Given the description of an element on the screen output the (x, y) to click on. 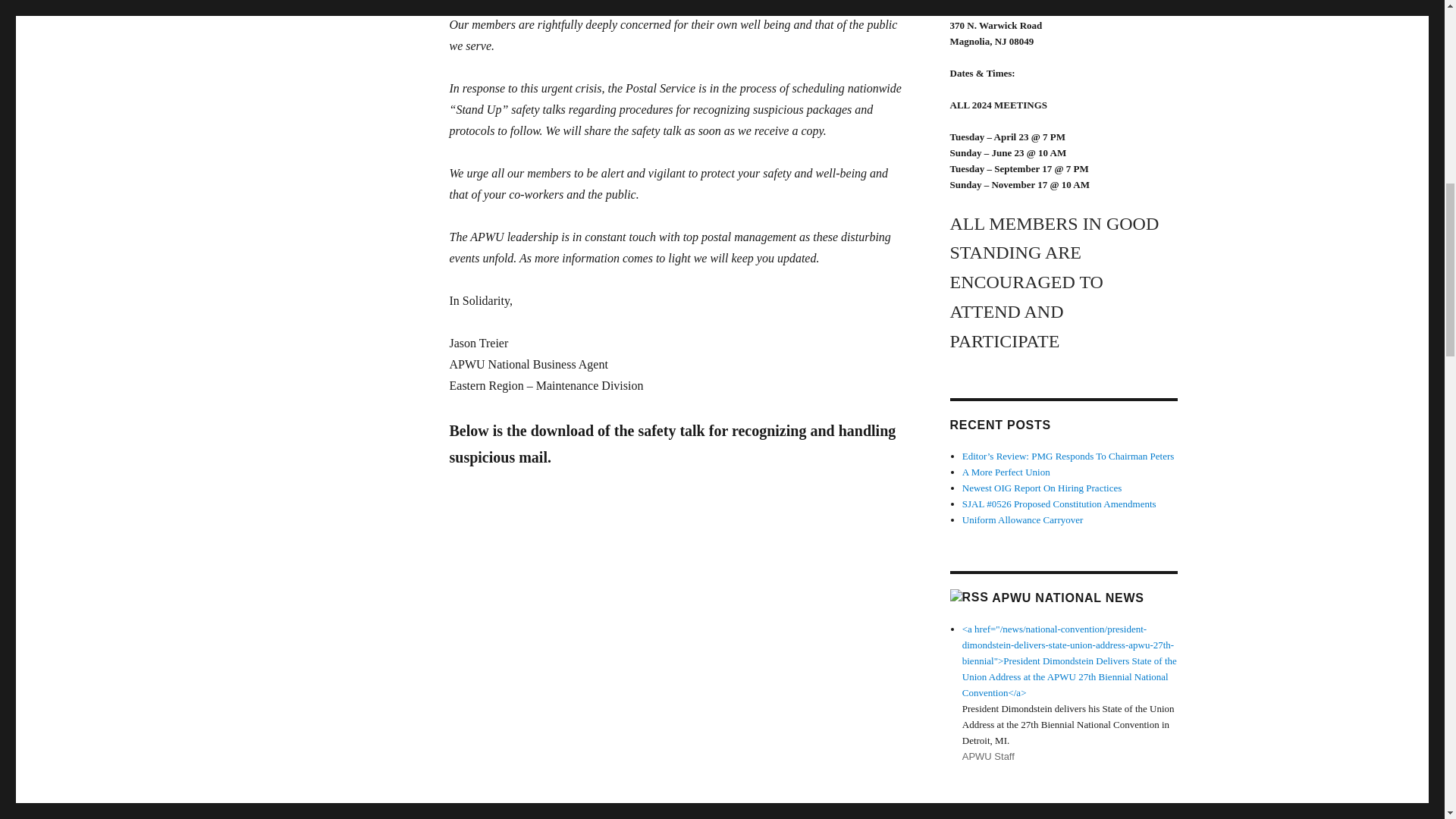
A More Perfect Union (1005, 471)
APWU NATIONAL NEWS (1066, 597)
Uniform Allowance Carryover (1022, 519)
Newest OIG Report On Hiring Practices (1041, 487)
